Given the description of an element on the screen output the (x, y) to click on. 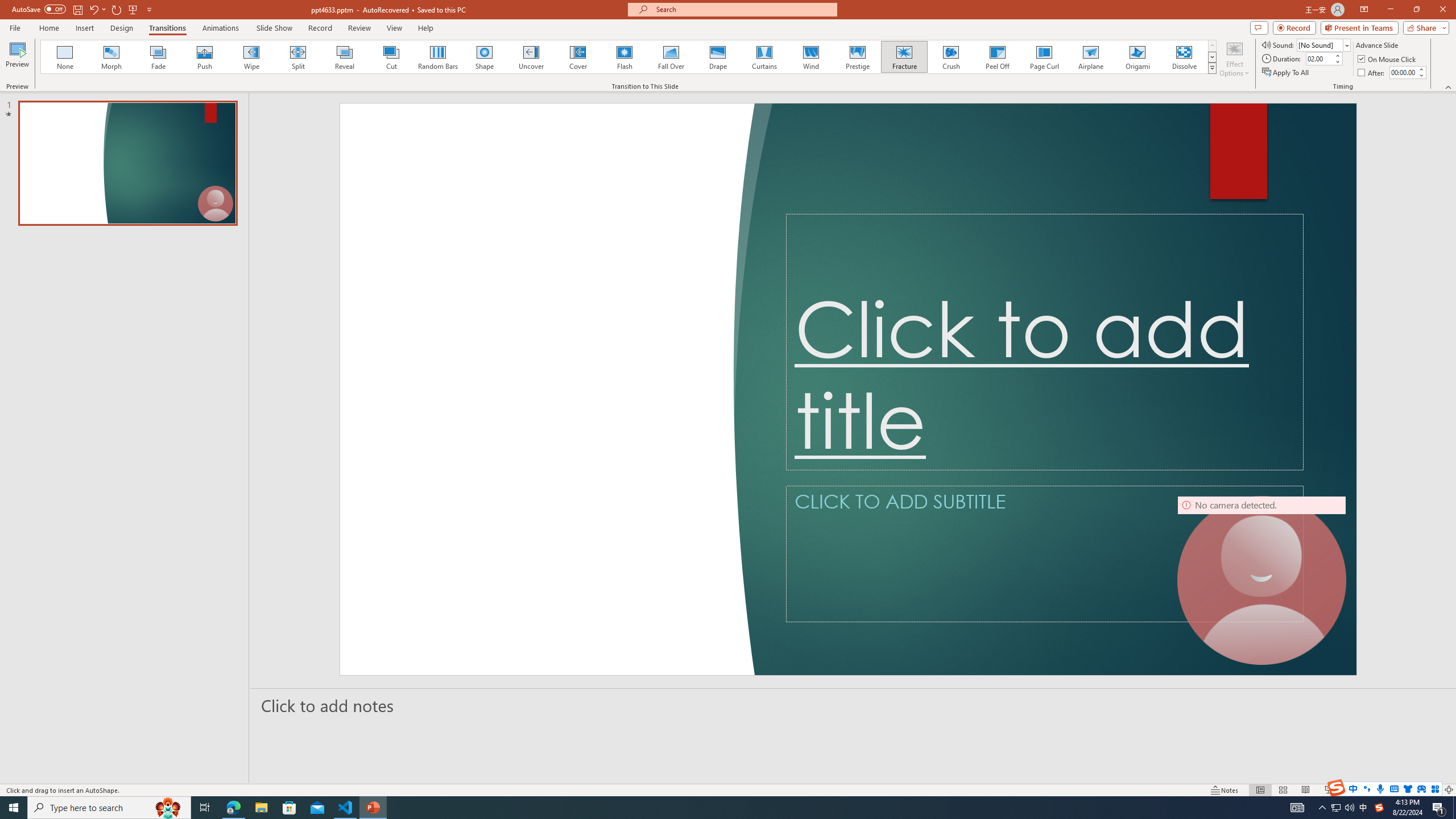
After (1372, 72)
Transition Effects (1212, 67)
Duration (1319, 58)
Apply To All (1286, 72)
Effect Options (1234, 58)
Push (205, 56)
Prestige (857, 56)
